Given the description of an element on the screen output the (x, y) to click on. 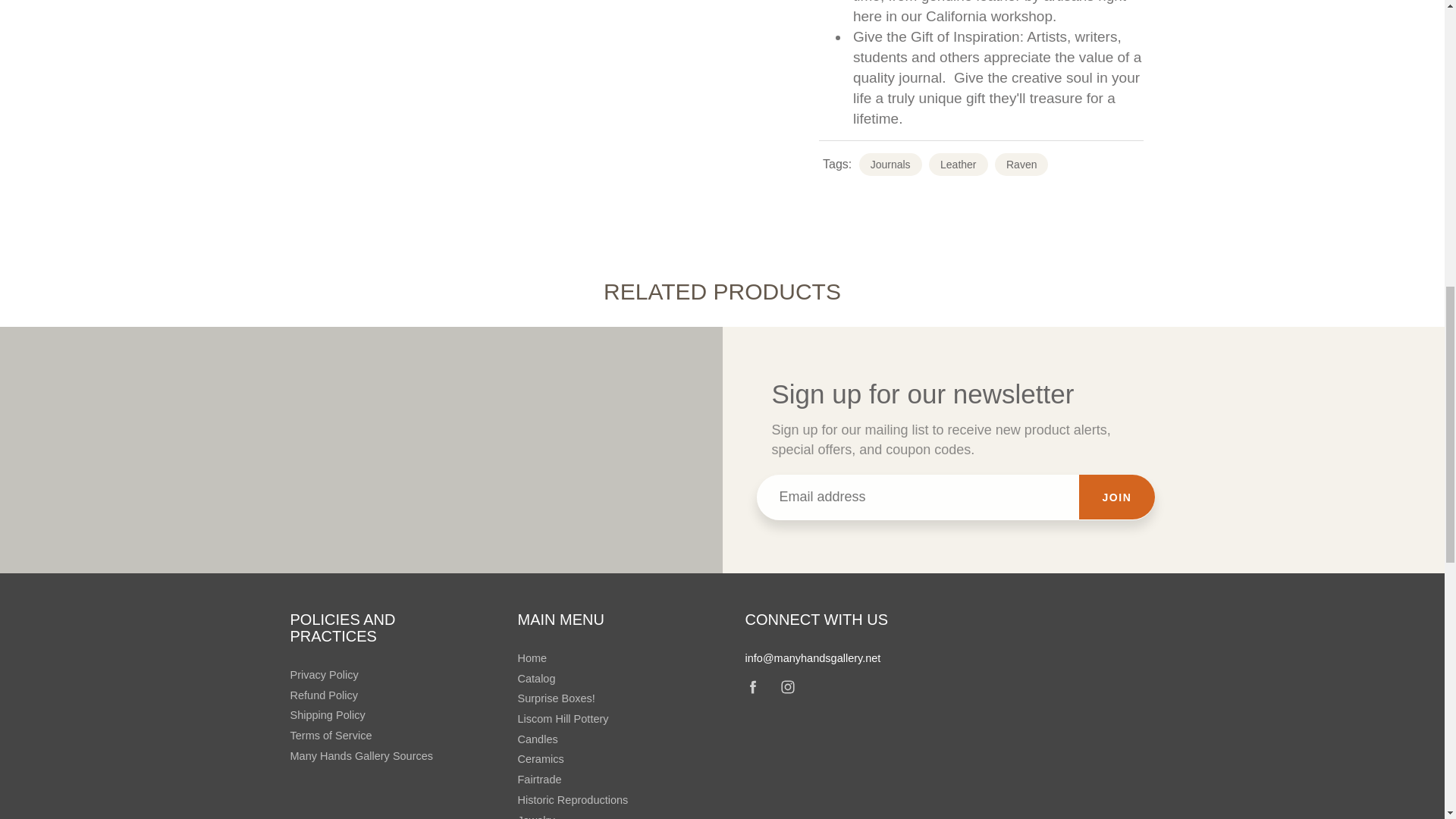
Instagram (788, 687)
Facebook (753, 687)
